Given the description of an element on the screen output the (x, y) to click on. 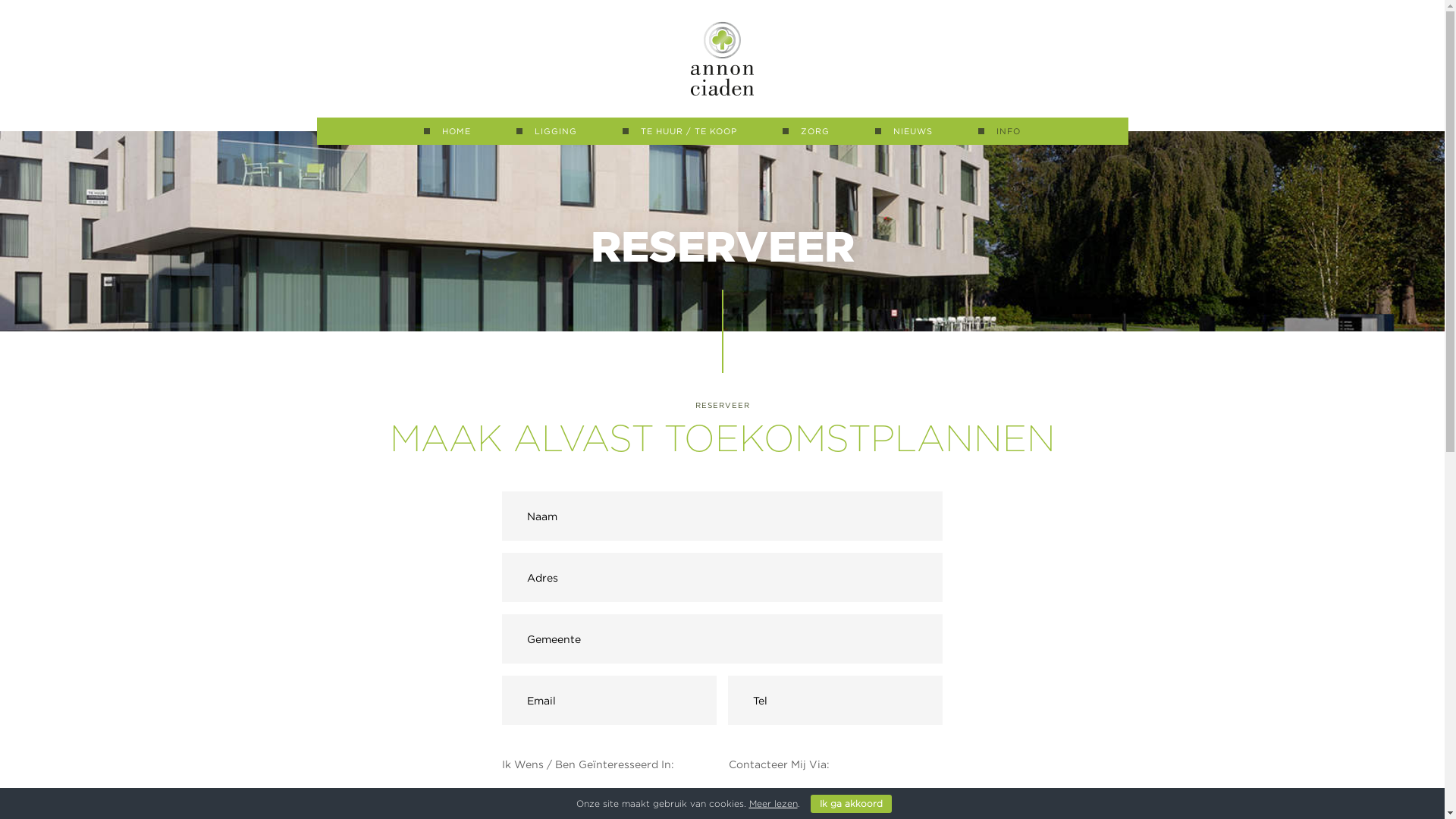
LIGGING Element type: text (546, 130)
Meer lezen Element type: text (773, 803)
HOME Element type: text (446, 130)
main-logo Element type: hover (721, 58)
ZORG Element type: text (805, 130)
Ik ga akkoord Element type: text (850, 803)
INFO Element type: text (999, 130)
TE HUUR / TE KOOP Element type: text (679, 130)
NIEUWS Element type: text (903, 130)
